Given the description of an element on the screen output the (x, y) to click on. 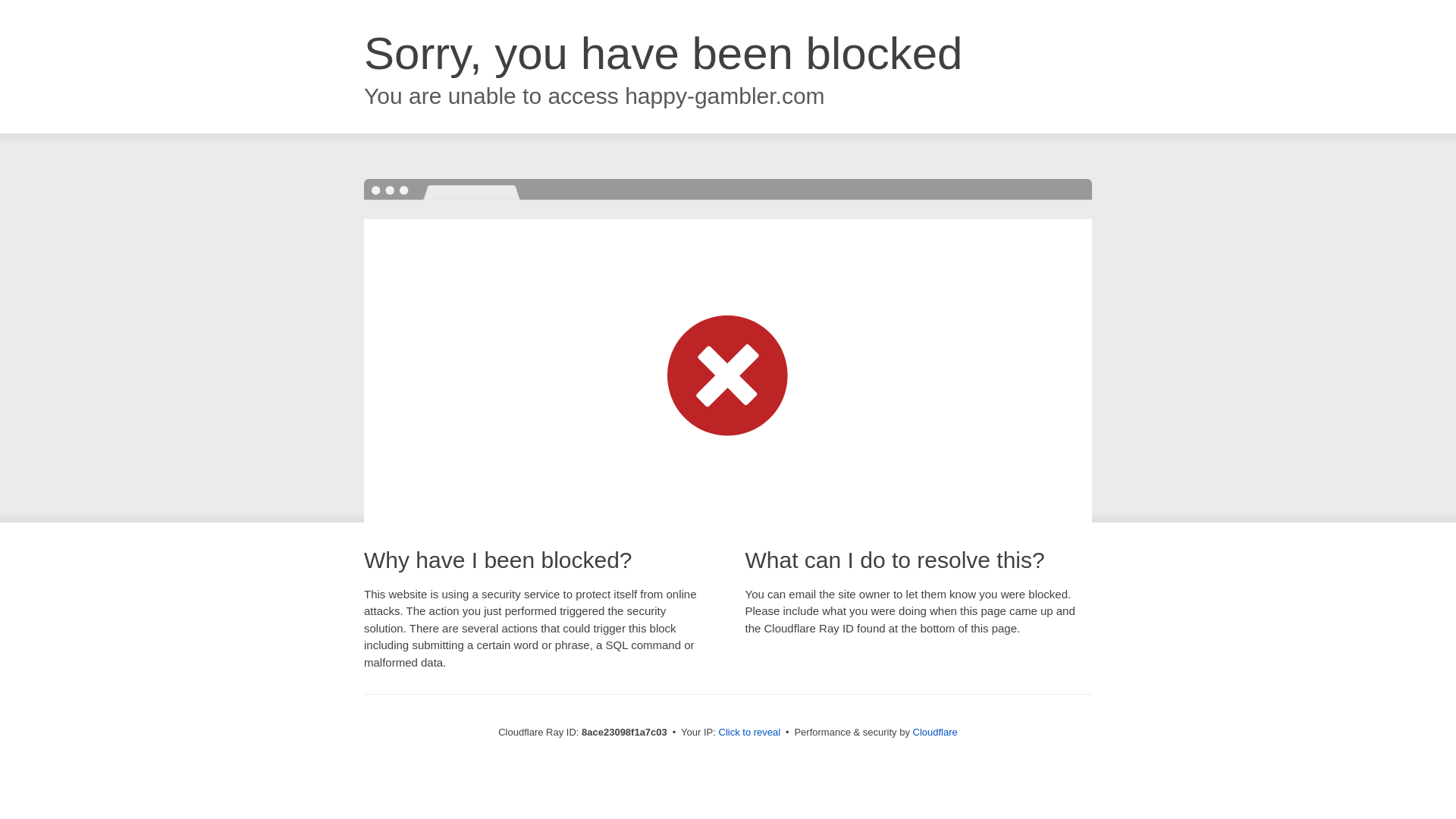
Cloudflare (935, 731)
Click to reveal (749, 732)
